Given the description of an element on the screen output the (x, y) to click on. 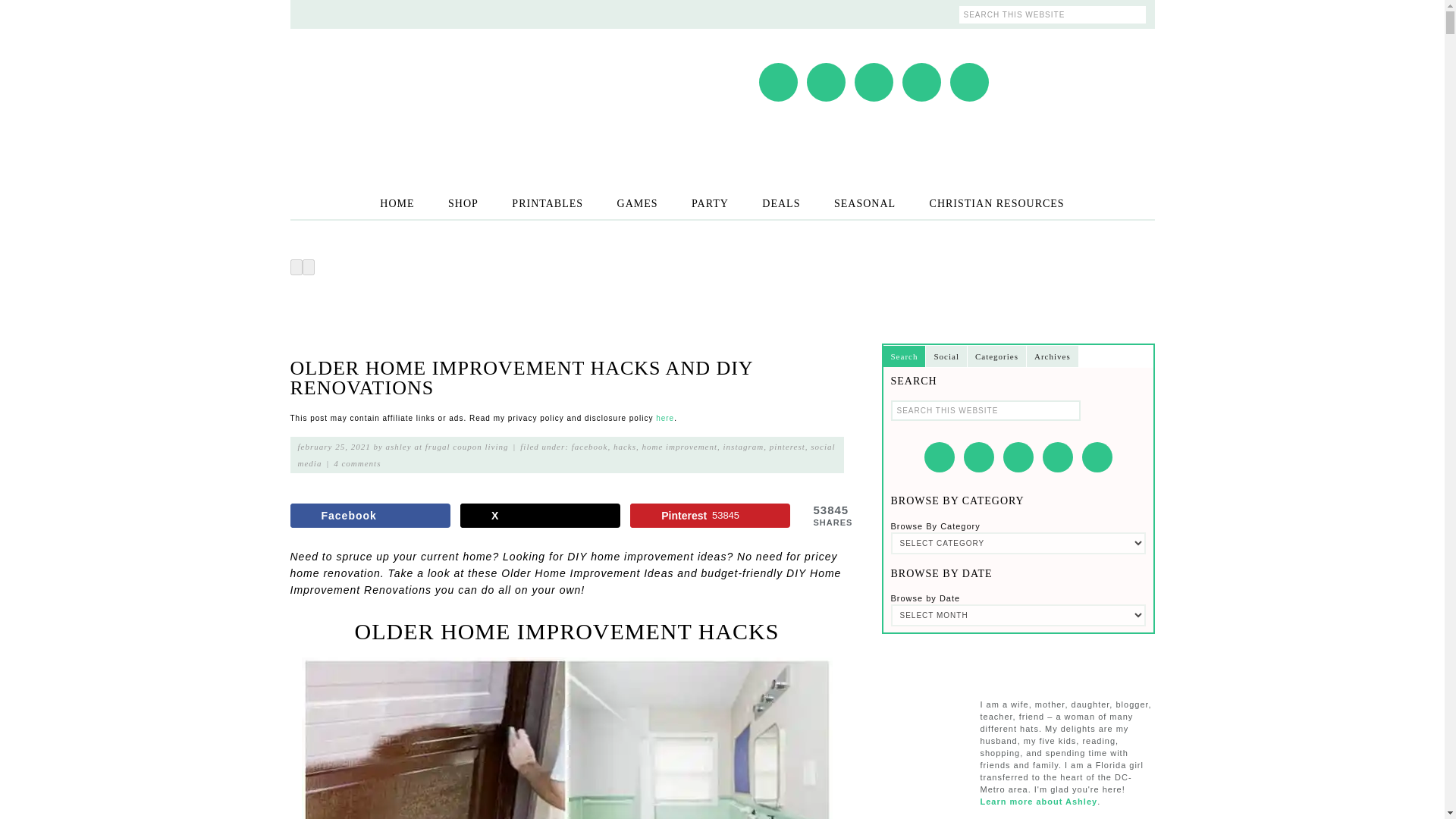
PARTY (710, 203)
SEASONAL (864, 203)
CHRISTIAN RESOURCES (997, 203)
Save to Pinterest (710, 515)
SHOP (462, 203)
DEALS (780, 203)
